Given the description of an element on the screen output the (x, y) to click on. 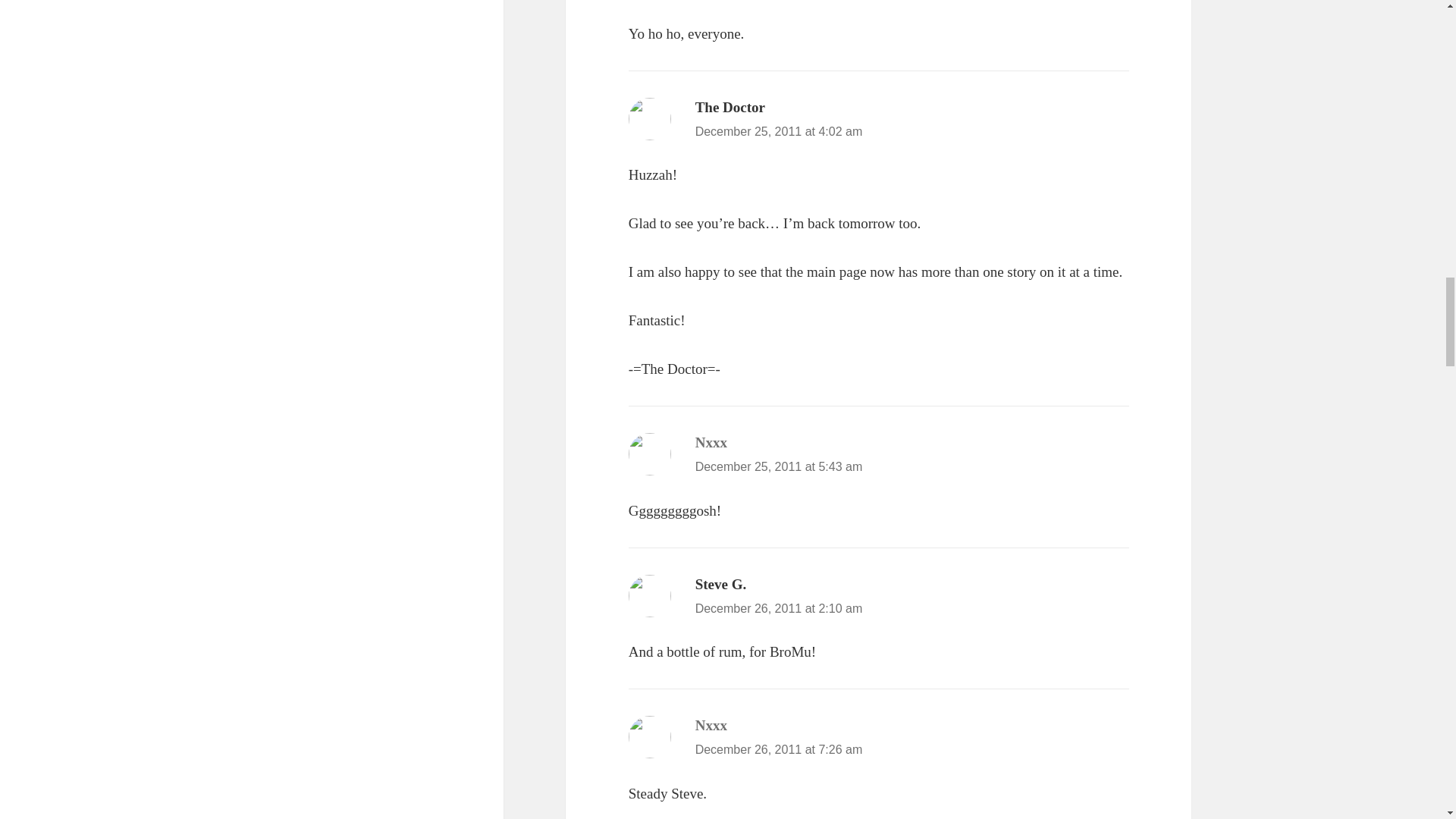
December 25, 2011 at 5:43 am (779, 466)
December 26, 2011 at 2:10 am (779, 608)
December 25, 2011 at 4:02 am (779, 131)
December 26, 2011 at 7:26 am (779, 748)
The Doctor (730, 107)
Steve G. (720, 584)
